Given the description of an element on the screen output the (x, y) to click on. 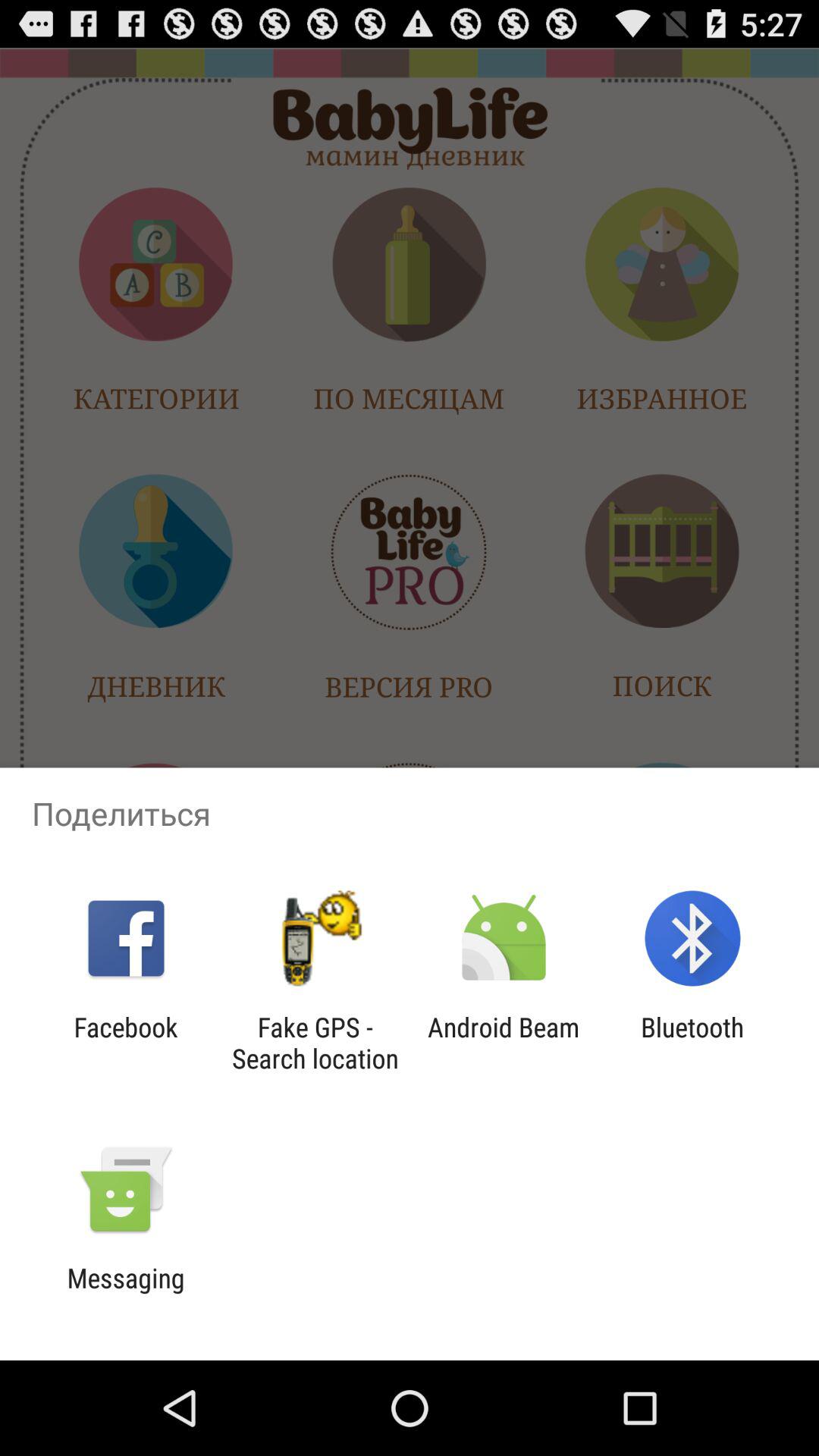
turn on the app next to the facebook item (314, 1042)
